Given the description of an element on the screen output the (x, y) to click on. 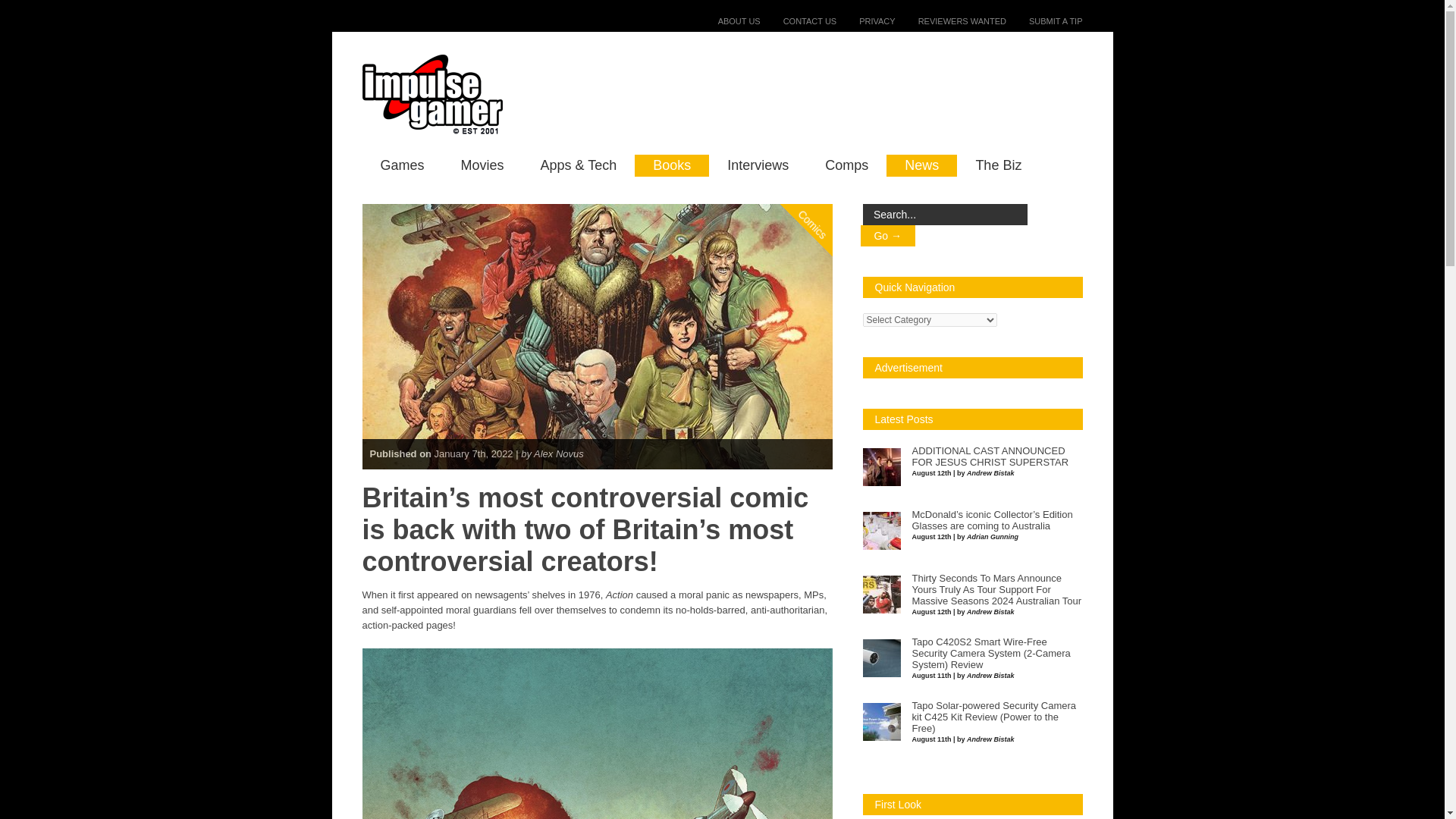
CONTACT US (798, 20)
Search... (945, 214)
Search... (945, 214)
SUBMIT A TIP (1044, 20)
ABOUT US (727, 20)
Movies (482, 165)
REVIEWERS WANTED (950, 20)
Games (402, 165)
PRIVACY (865, 20)
